Given the description of an element on the screen output the (x, y) to click on. 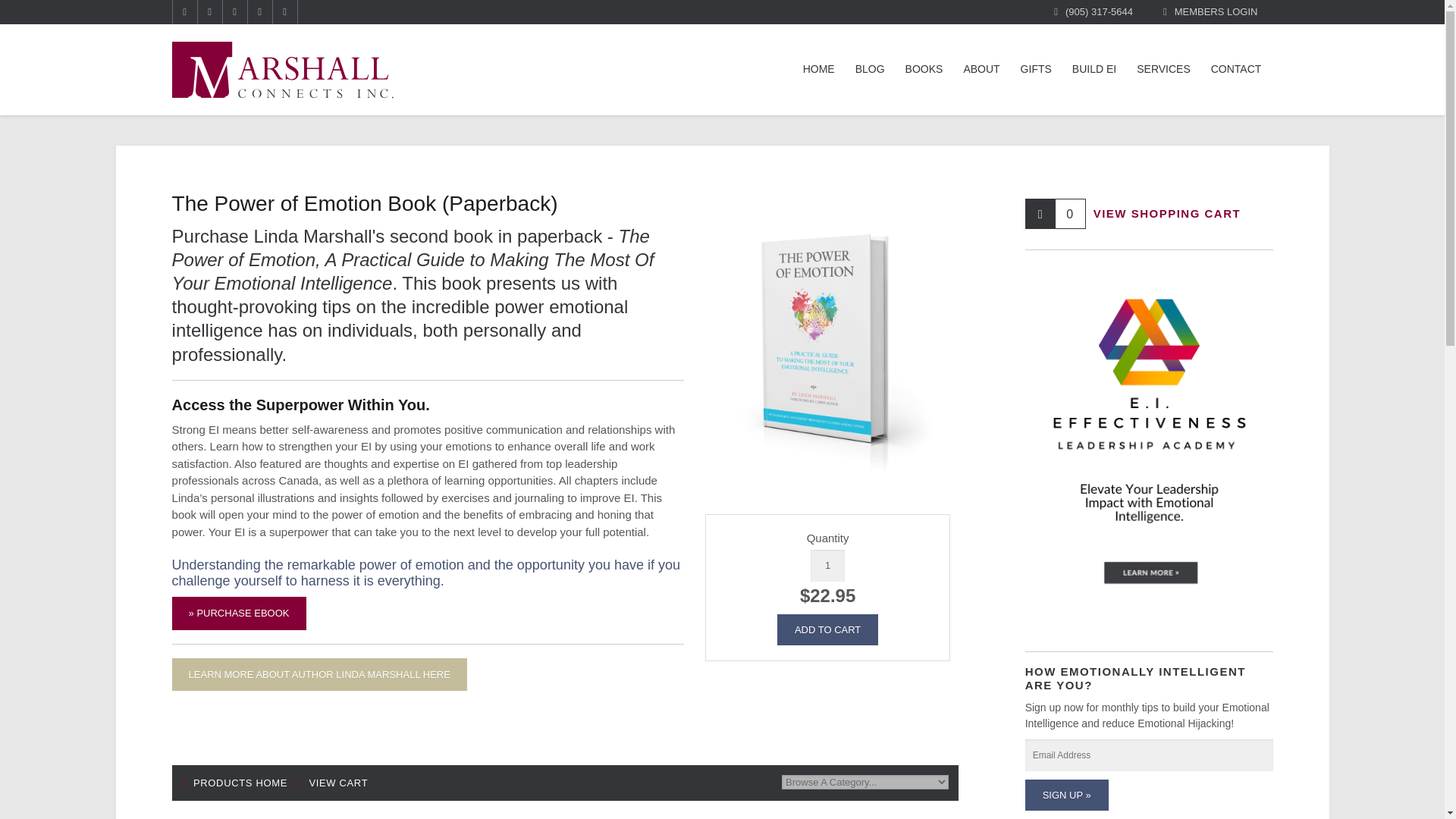
Add to Cart (827, 629)
1 (827, 565)
